Given the description of an element on the screen output the (x, y) to click on. 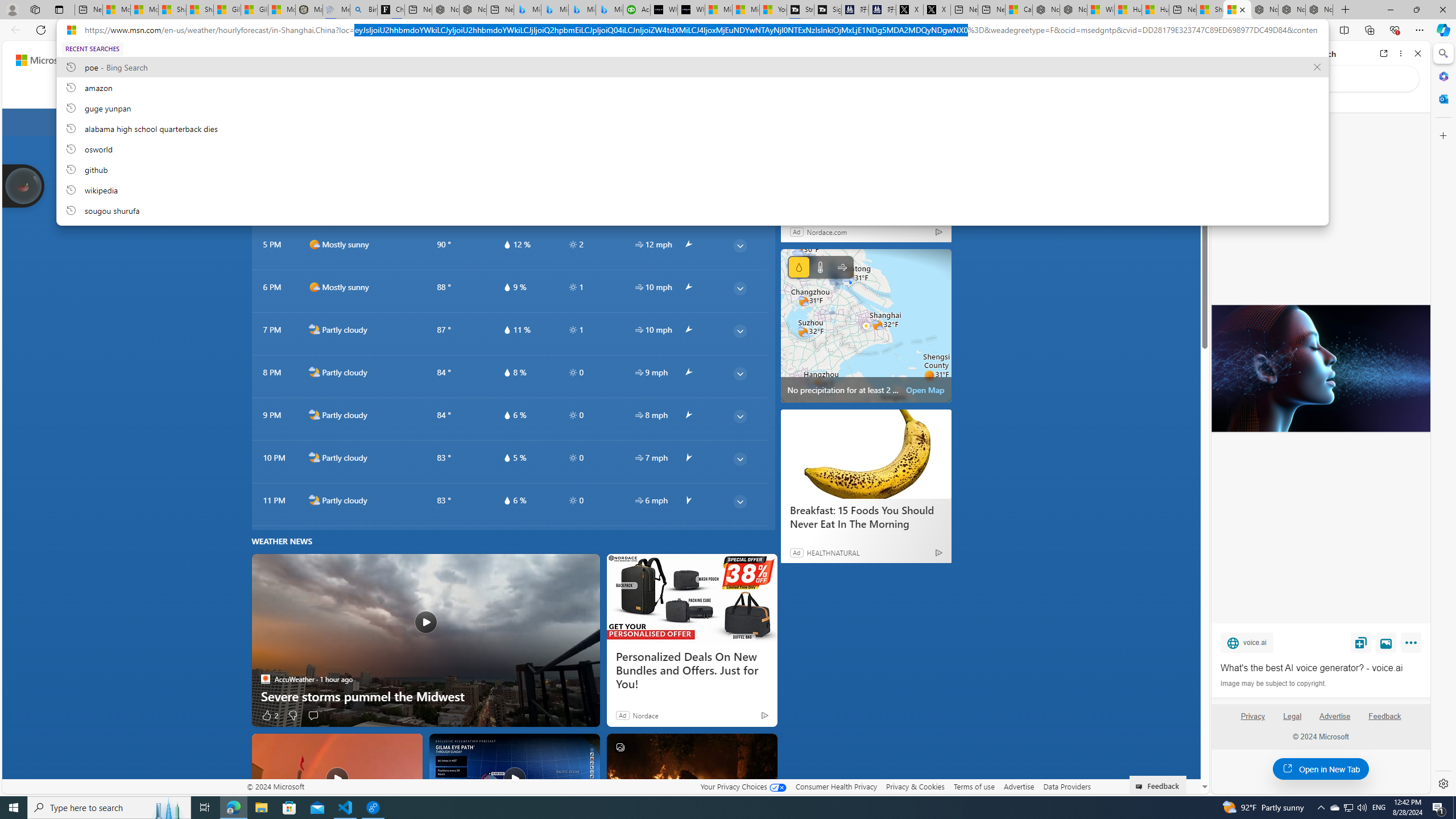
github, recent searches from history (691, 168)
Shanghai, China weather forecast | Microsoft Weather (200, 9)
Accounting Software for Accountants, CPAs and Bookkeepers (636, 9)
Open in New Tab (1321, 768)
Huge shark washes ashore at New York City beach | Watch (1155, 9)
Microsoft Bing Travel - Stays in Bangkok, Bangkok, Thailand (554, 9)
Customize (1442, 135)
wikipedia, recent searches from history (691, 189)
Skip to footer (46, 59)
d1000 (314, 287)
n2000 (314, 500)
